Given the description of an element on the screen output the (x, y) to click on. 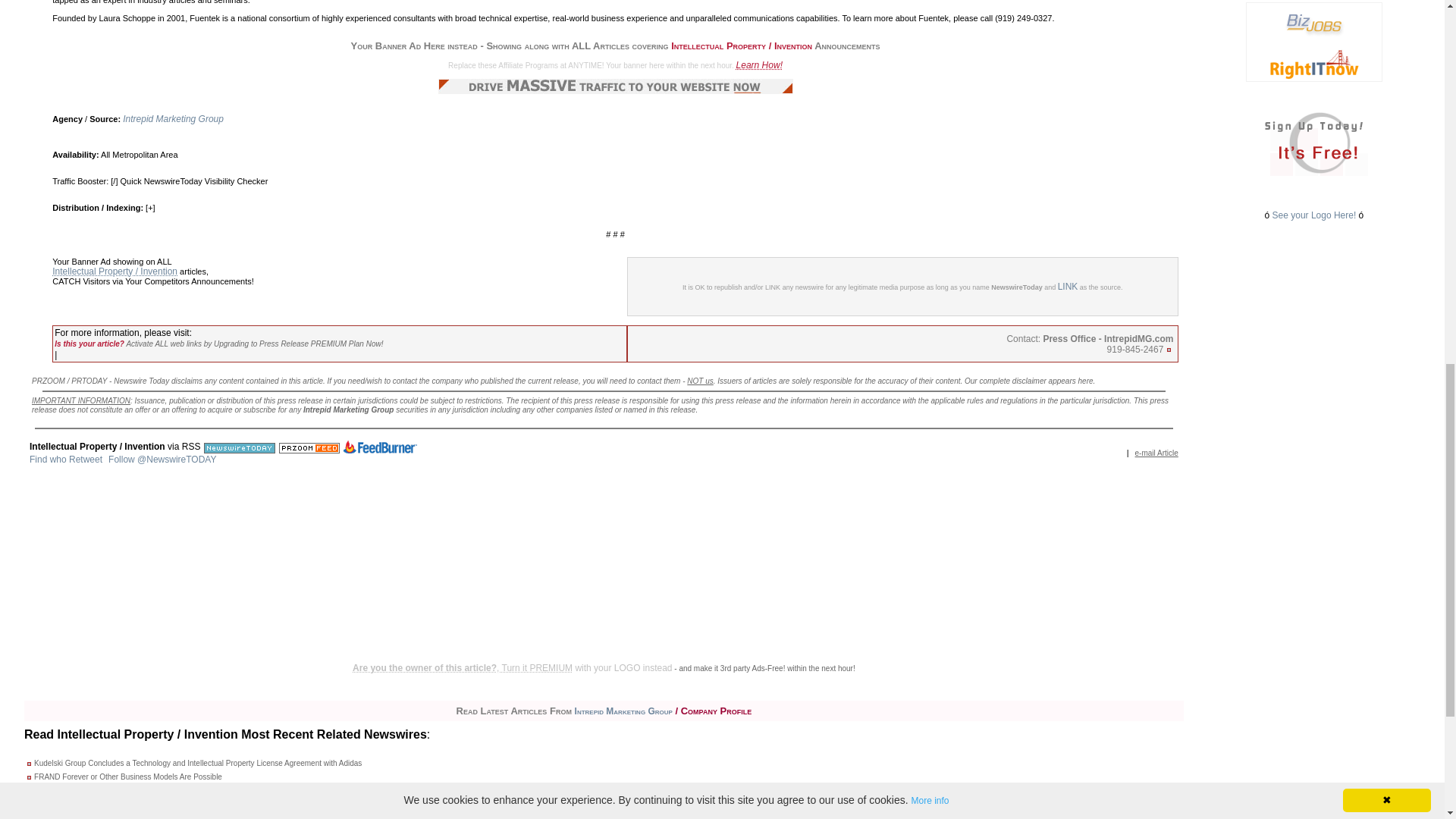
Quick NewswireToday (161, 181)
LINK (1068, 286)
here (1085, 380)
e-mail Article (1156, 452)
Learn How! (759, 64)
Find who Retweet (65, 459)
Intrepid Marketing Group (173, 118)
